Given the description of an element on the screen output the (x, y) to click on. 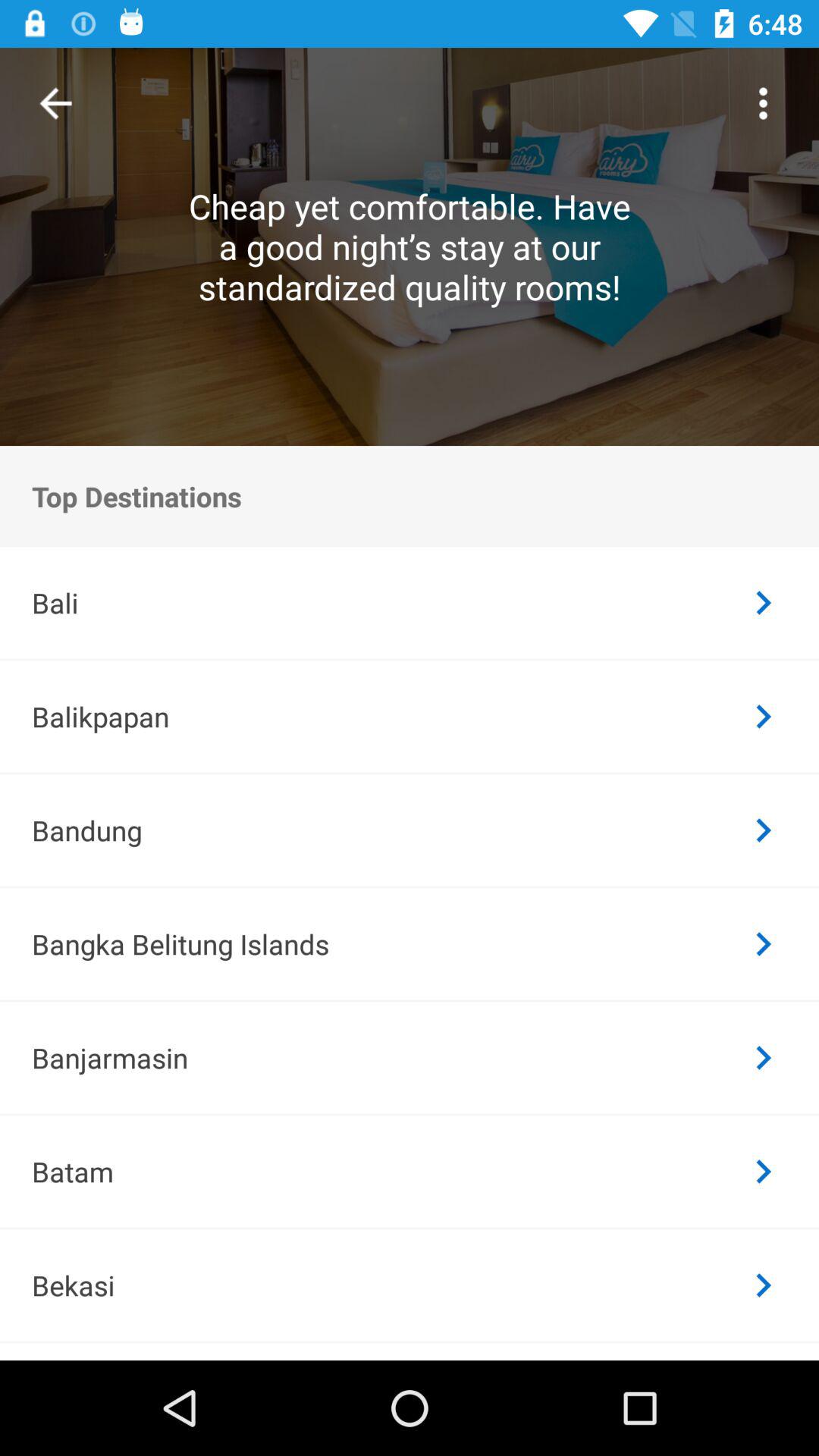
open item at the top left corner (55, 103)
